Given the description of an element on the screen output the (x, y) to click on. 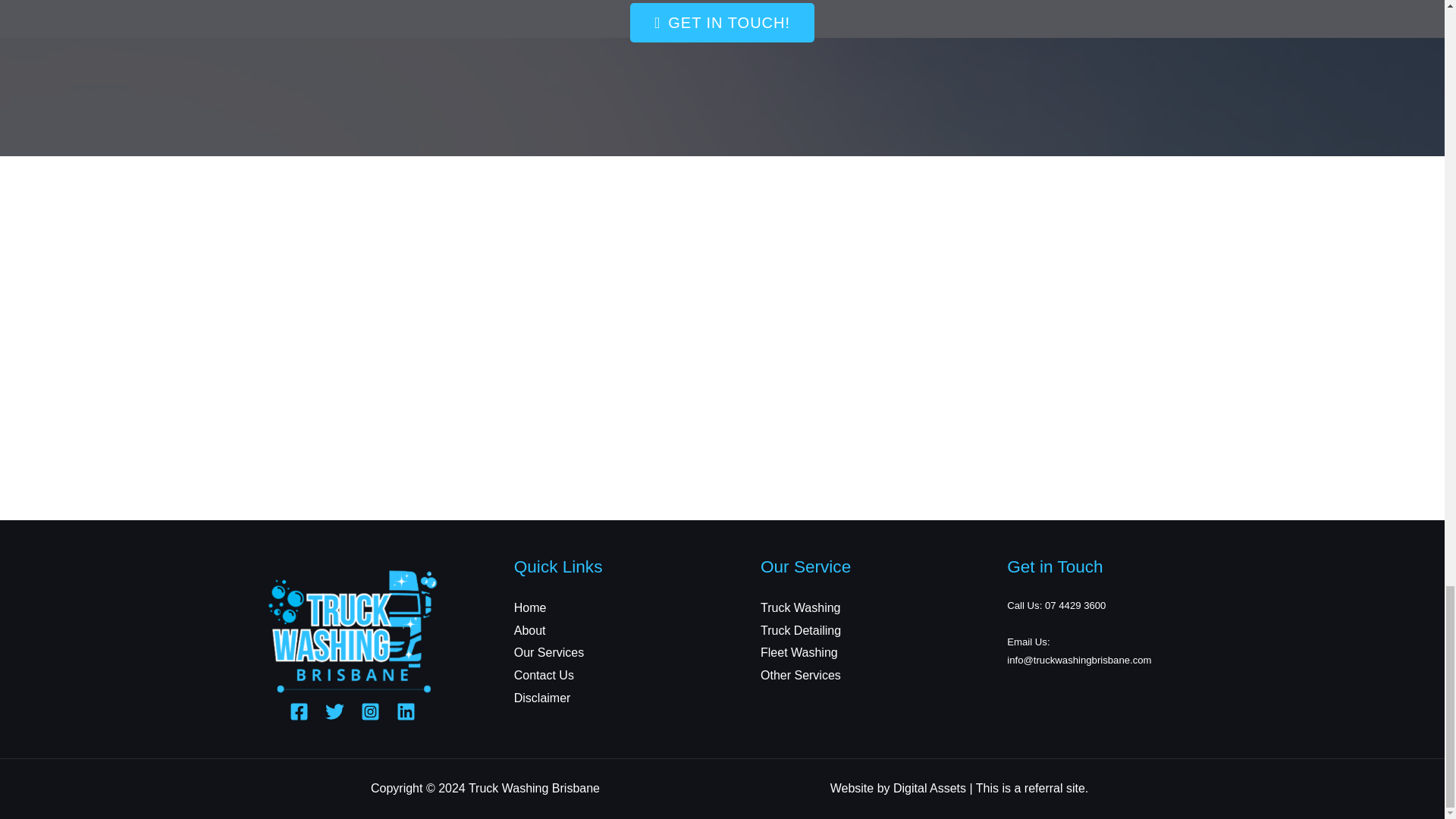
GET IN TOUCH! (721, 22)
